Given the description of an element on the screen output the (x, y) to click on. 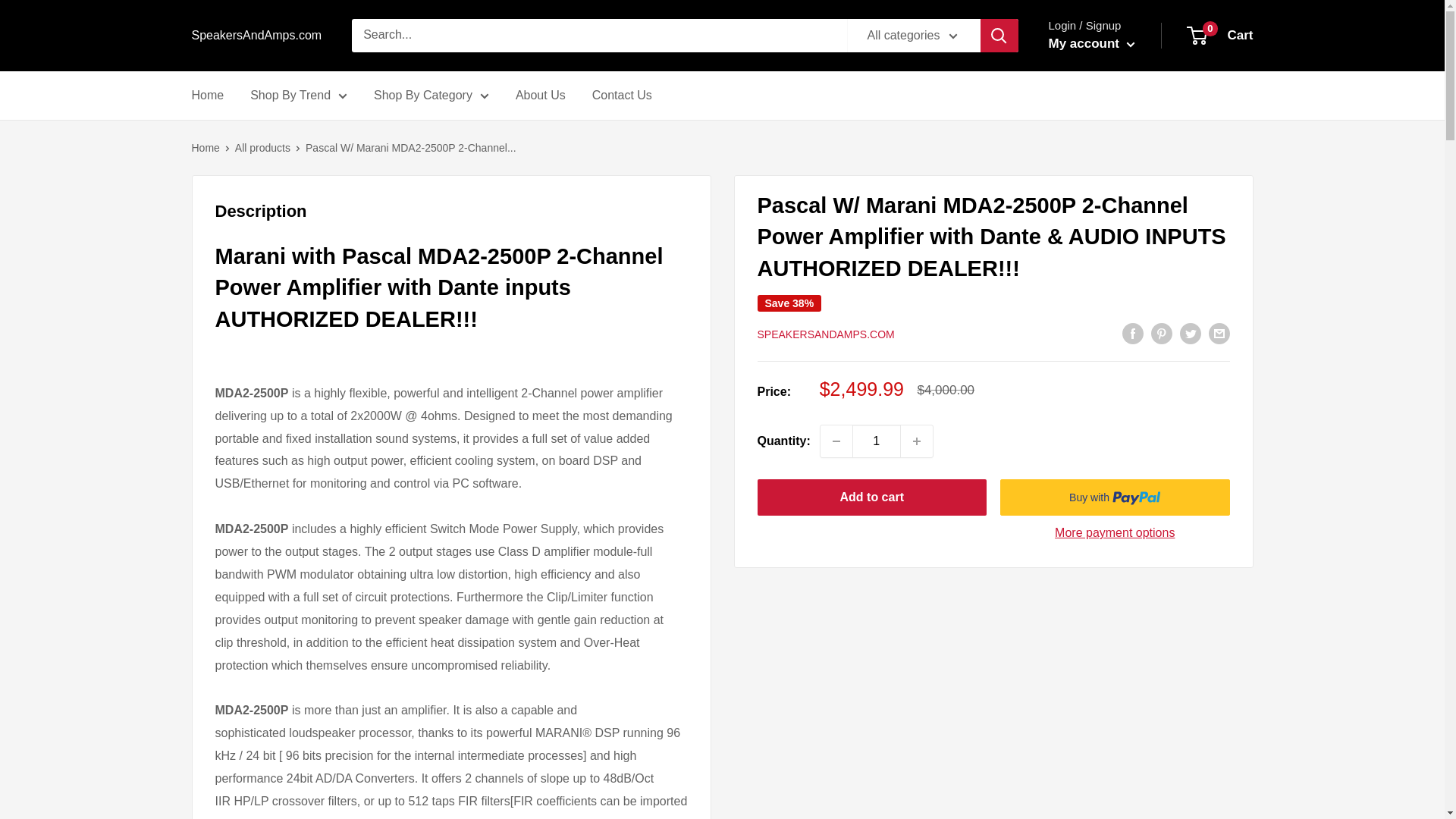
Decrease quantity by 1 (836, 441)
1 (876, 441)
Increase quantity by 1 (917, 441)
